Given the description of an element on the screen output the (x, y) to click on. 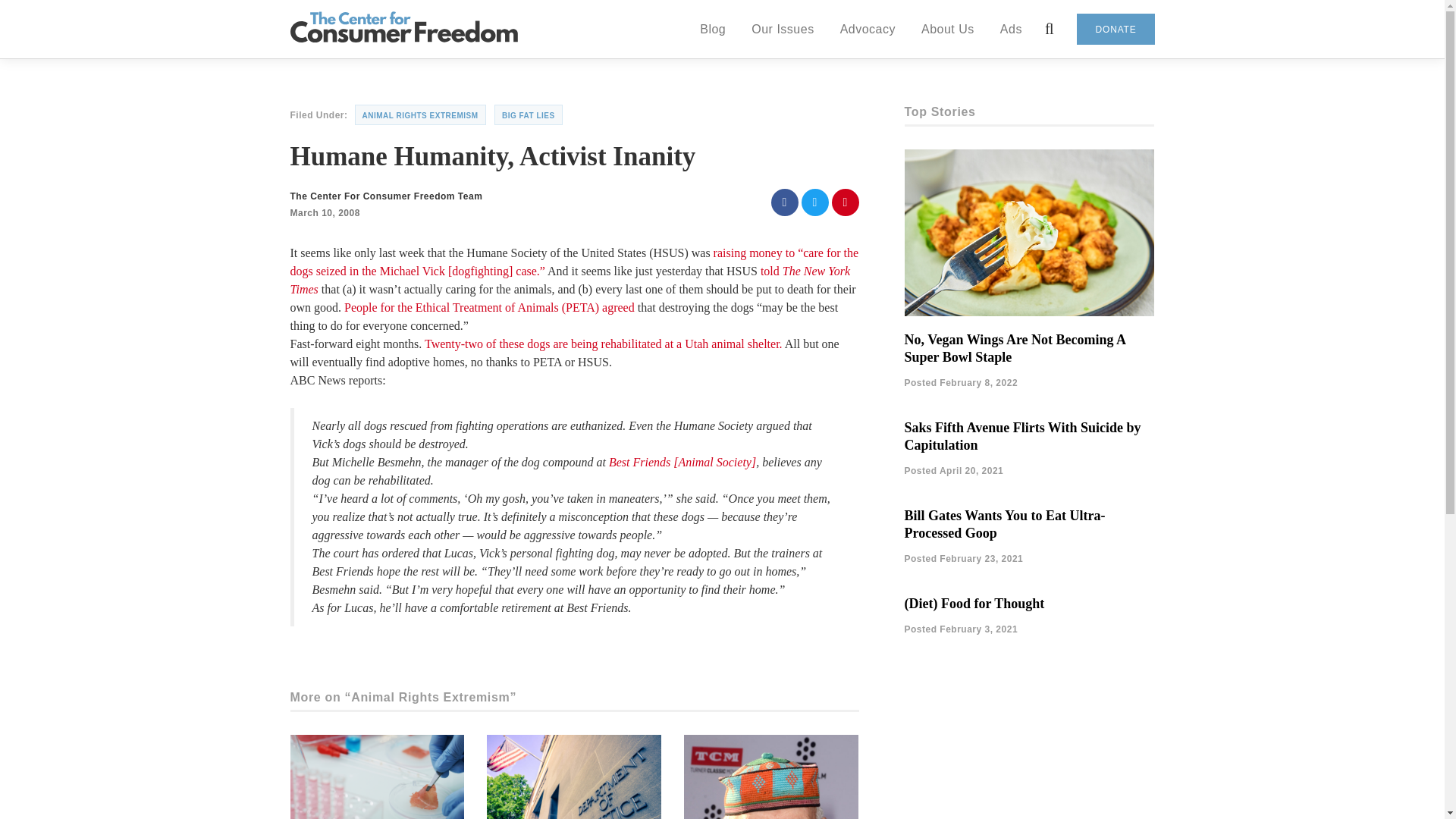
Share on Twitter (814, 202)
Share on Email (845, 202)
No, Vegan Wings Are Not Becoming A Super Bowl Staple (1014, 348)
Advocacy (867, 28)
told The New York Times (569, 279)
Blog (712, 28)
About Us (947, 28)
Our Issues (782, 28)
Ads (1011, 28)
DONATE (1115, 29)
Share on Facebook (783, 202)
ANIMAL RIGHTS EXTREMISM (420, 114)
BIG FAT LIES (528, 114)
